Given the description of an element on the screen output the (x, y) to click on. 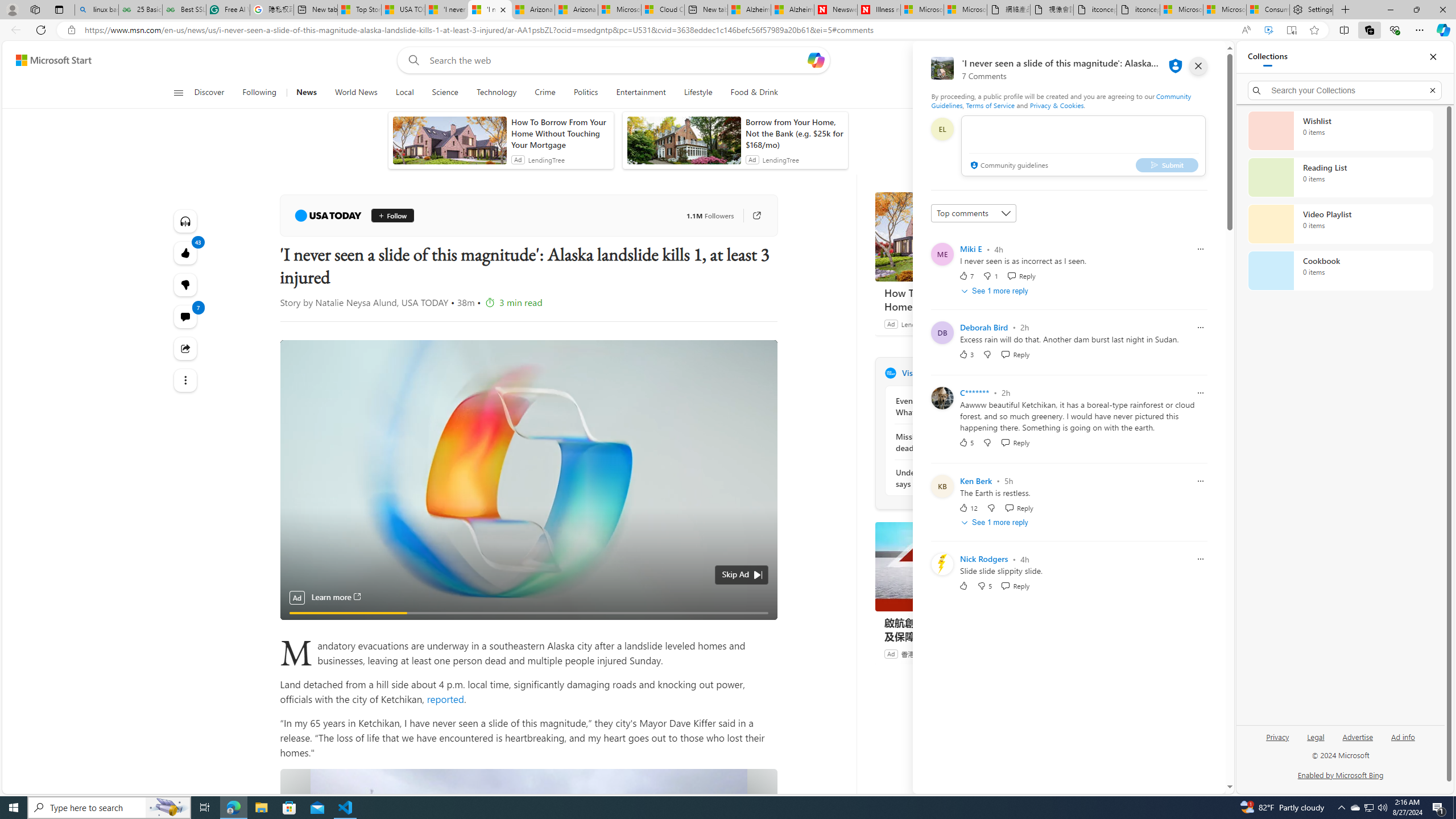
Personalize (1019, 92)
Food & Drink (753, 92)
Quality Settings (692, 606)
Free AI Writing Assistance for Students | Grammarly (227, 9)
